Given the description of an element on the screen output the (x, y) to click on. 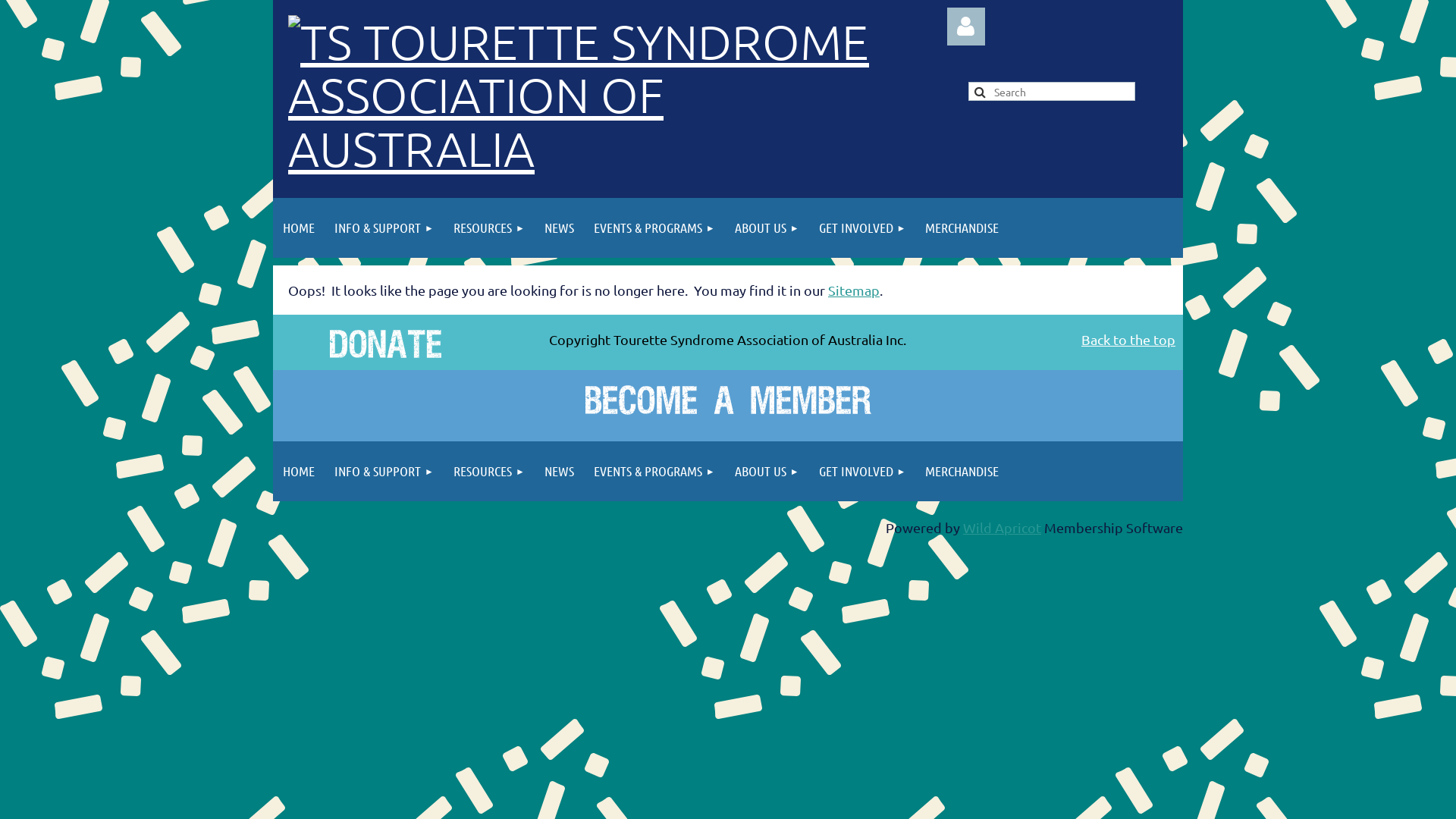
Back to the top Element type: text (1128, 339)
TS Tourette Syndrome Association of Australia Element type: hover (602, 147)
RESOURCES Element type: text (488, 471)
HOME Element type: text (298, 471)
GET INVOLVED Element type: text (862, 227)
ABOUT US Element type: text (766, 227)
ABOUT US Element type: text (766, 471)
GET INVOLVED Element type: text (862, 471)
RESOURCES Element type: text (488, 227)
Sitemap Element type: text (853, 290)
INFO & SUPPORT Element type: text (383, 227)
NEWS Element type: text (558, 471)
Wild Apricot Element type: text (1002, 527)
MERCHANDISE Element type: text (961, 471)
HOME Element type: text (298, 227)
EVENTS & PROGRAMS Element type: text (653, 227)
Log in Element type: text (966, 26)
Become a Member Element type: hover (728, 399)
INFO & SUPPORT Element type: text (383, 471)
EVENTS & PROGRAMS Element type: text (653, 471)
MERCHANDISE Element type: text (961, 227)
NEWS Element type: text (558, 227)
Donate Element type: hover (385, 343)
